Given the description of an element on the screen output the (x, y) to click on. 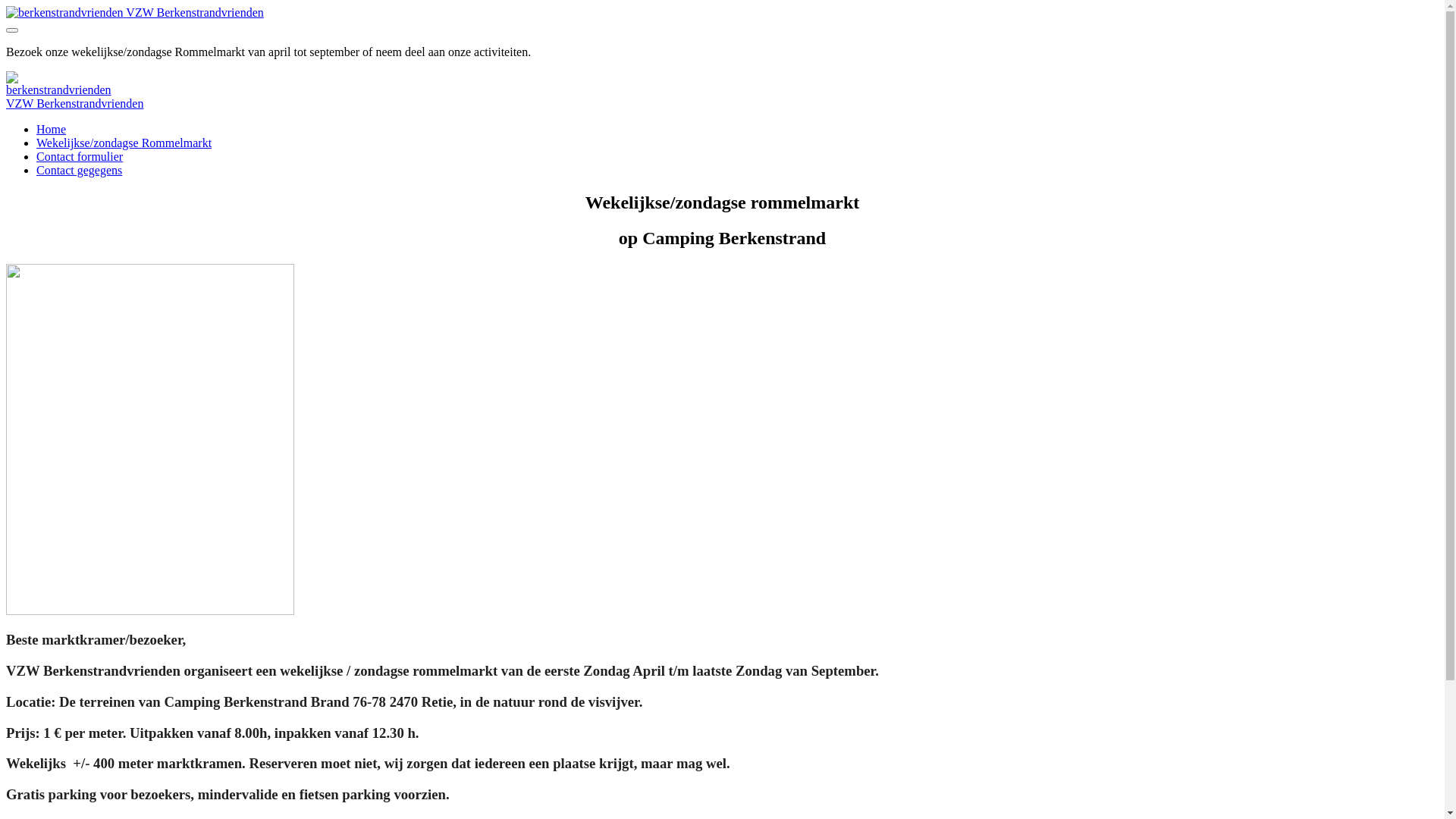
Contact gegegens Element type: text (79, 169)
berkenstrandvrienden Element type: hover (64, 12)
VZW Berkenstrandvrienden Element type: text (134, 12)
Home Element type: text (50, 128)
Wekelijkse/zondagse Rommelmarkt Element type: text (123, 142)
berkenstrandvrienden Element type: hover (58, 84)
VZW Berkenstrandvrienden Element type: text (74, 103)
Contact formulier Element type: text (79, 156)
